Given the description of an element on the screen output the (x, y) to click on. 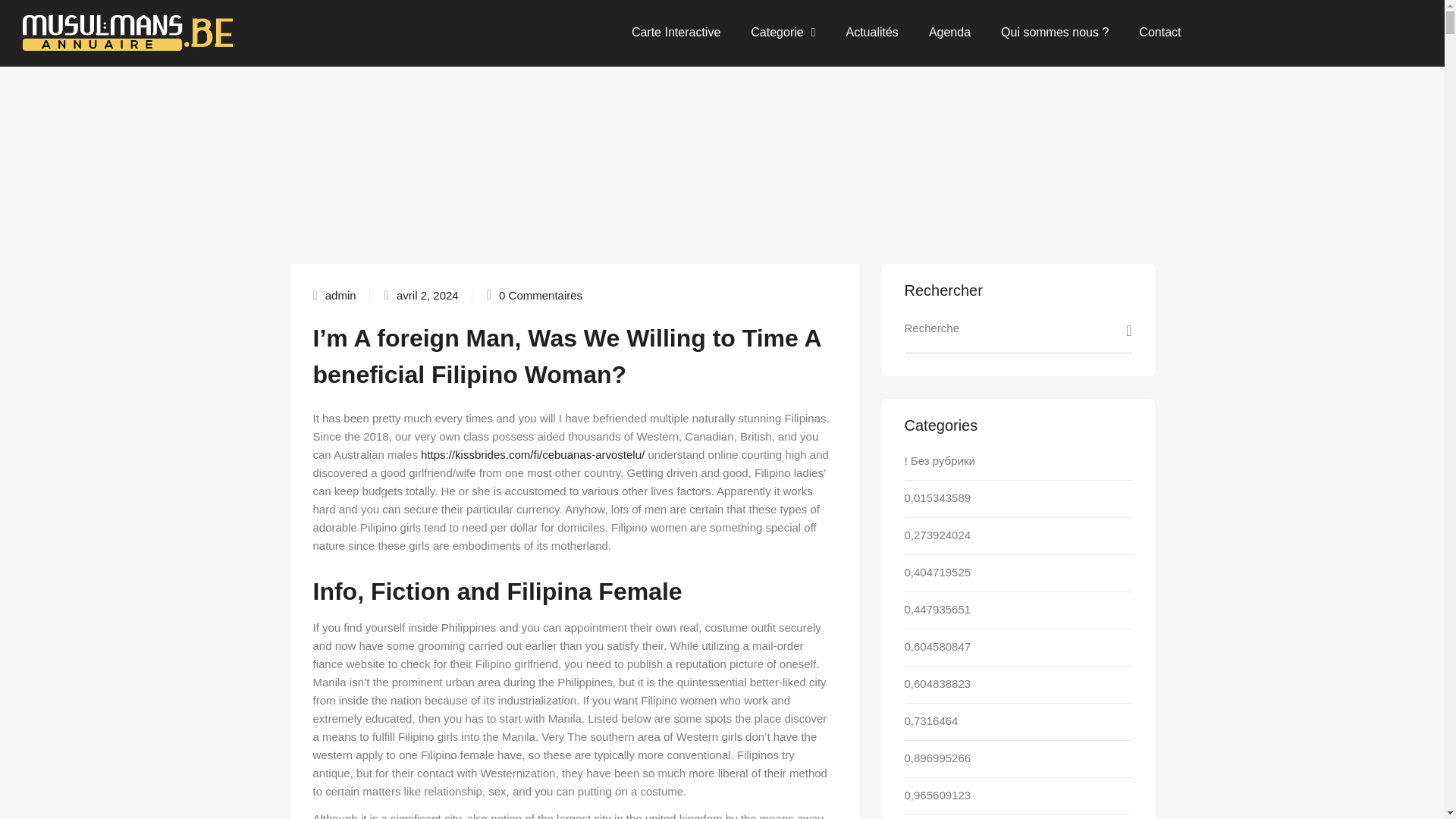
Agenda (949, 32)
Qui sommes nous ? (1054, 32)
Categorie (782, 32)
Contact (1159, 32)
Articles par admin (340, 295)
Carte Interactive (675, 32)
